Given the description of an element on the screen output the (x, y) to click on. 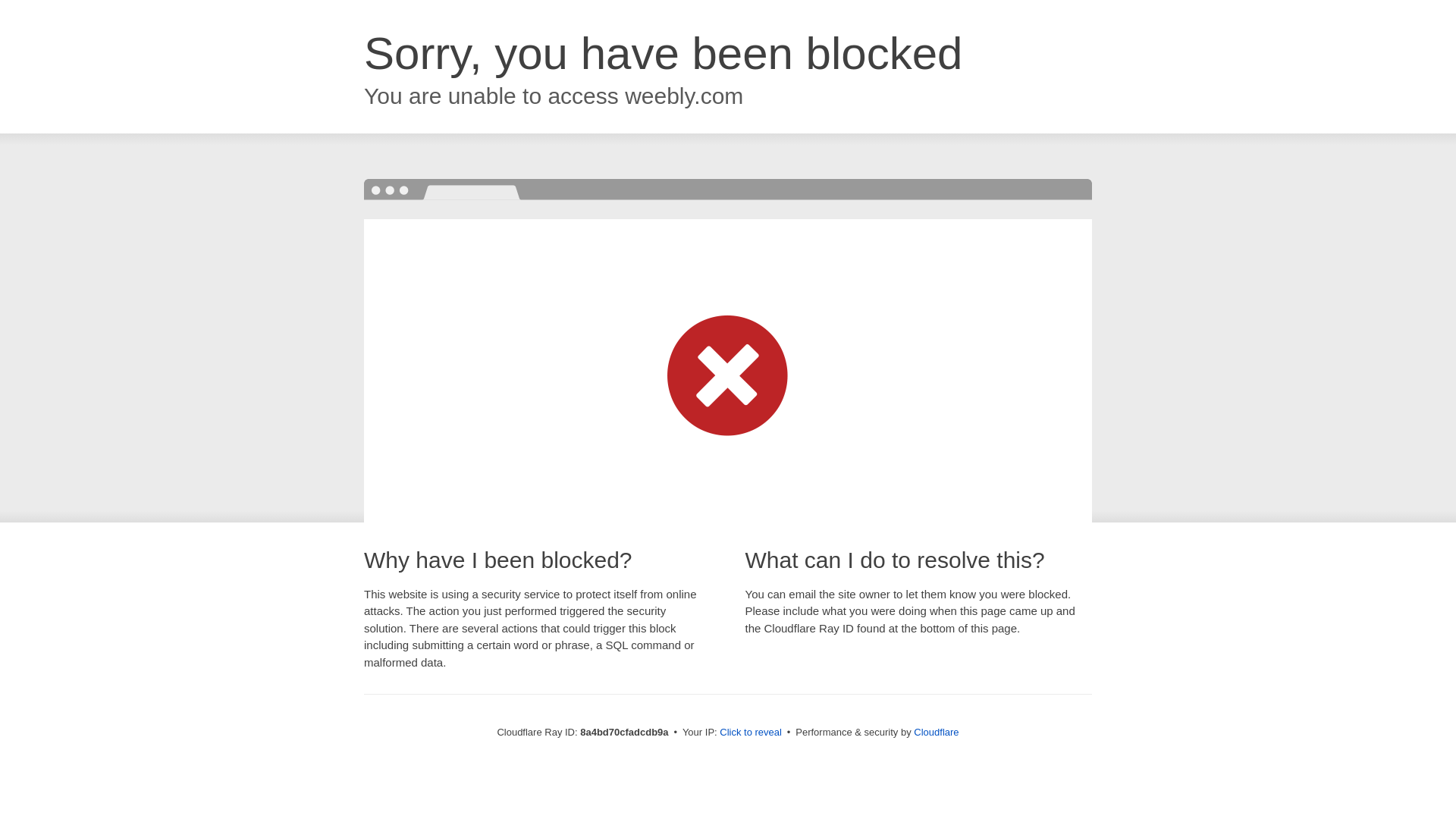
Click to reveal (750, 732)
Cloudflare (936, 731)
